Given the description of an element on the screen output the (x, y) to click on. 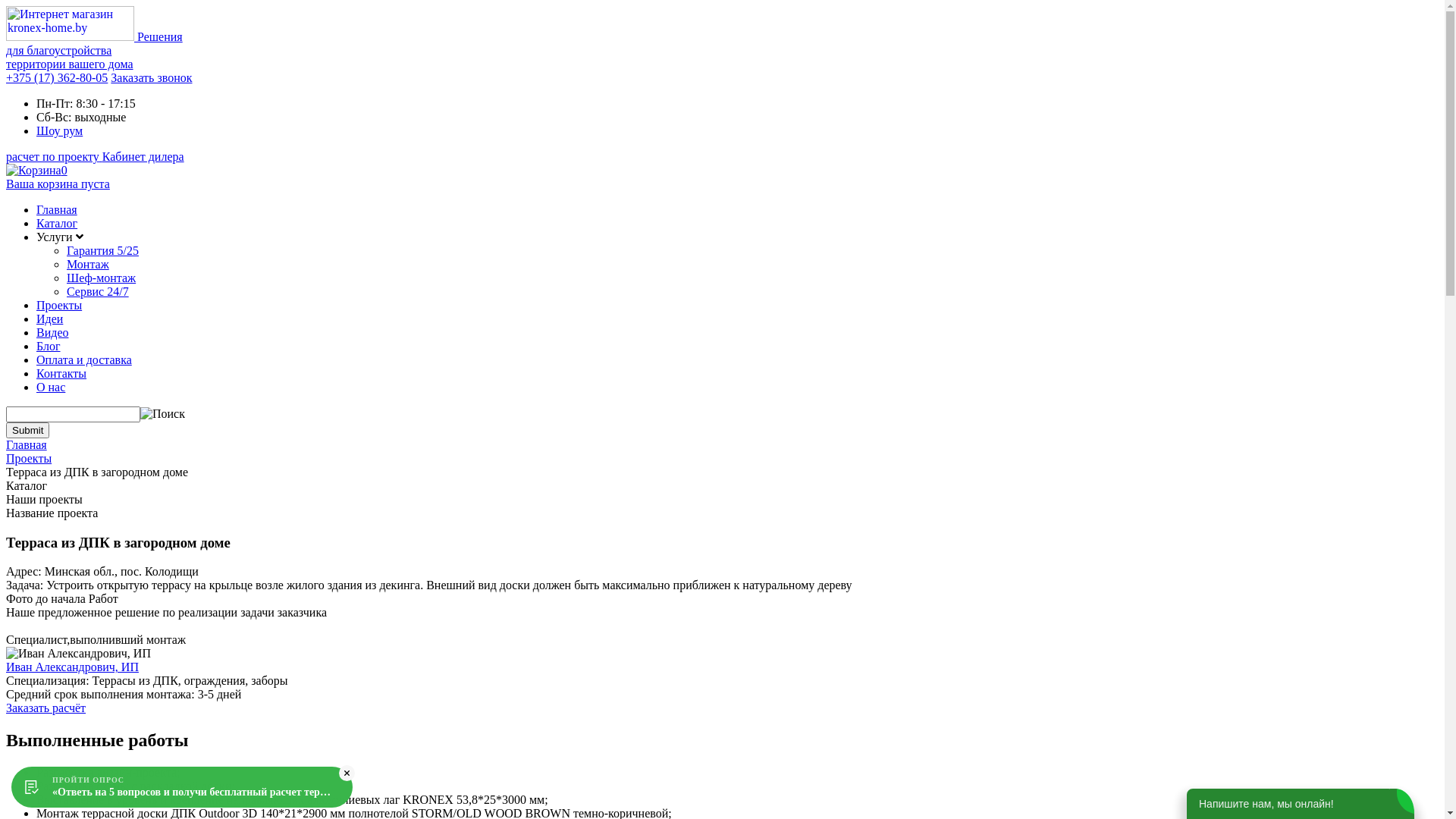
+375 (17) 362-80-05 Element type: text (56, 77)
